Given the description of an element on the screen output the (x, y) to click on. 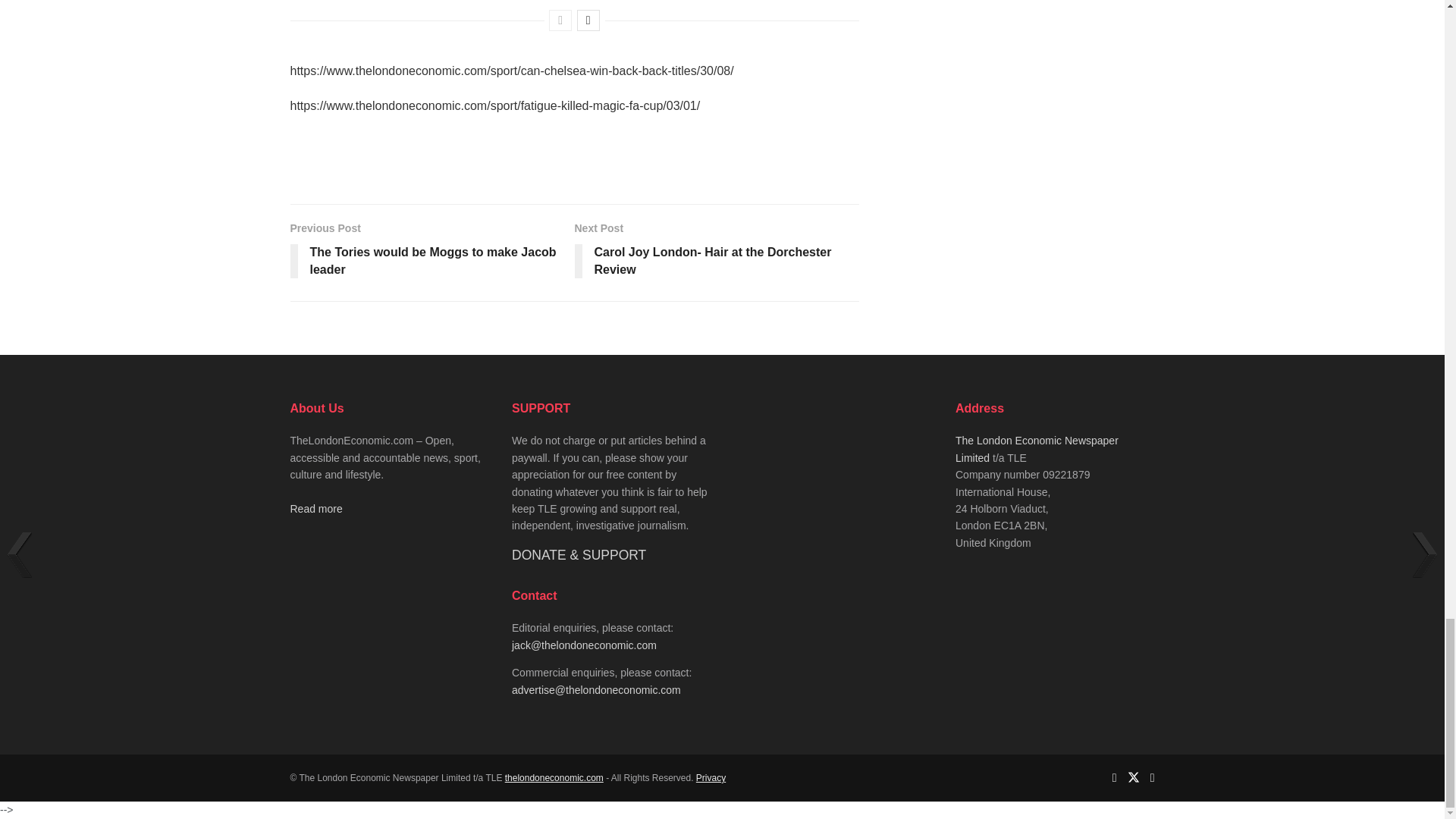
Previous (560, 20)
Next (587, 20)
Privacy (710, 777)
The London Economic (554, 777)
